Given the description of an element on the screen output the (x, y) to click on. 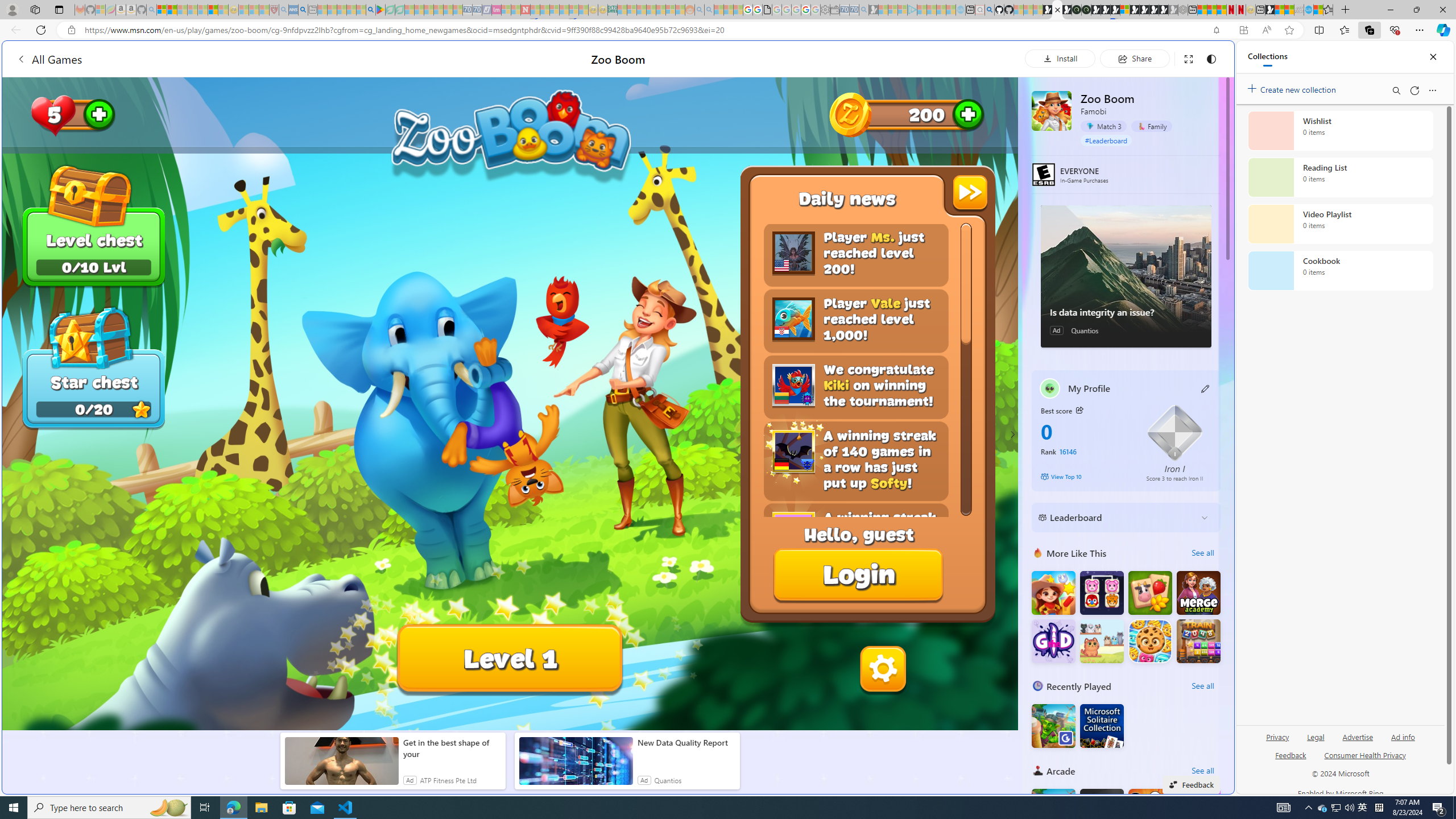
Solitaire Mahjong Farm (1149, 592)
The Weather Channel - MSN - Sleeping (181, 9)
Pets - MSN - Sleeping (351, 9)
Family (1151, 125)
View Top 10 (1085, 476)
Microsoft Solitaire Collection (1101, 725)
utah sues federal government - Search (922, 389)
